Given the description of an element on the screen output the (x, y) to click on. 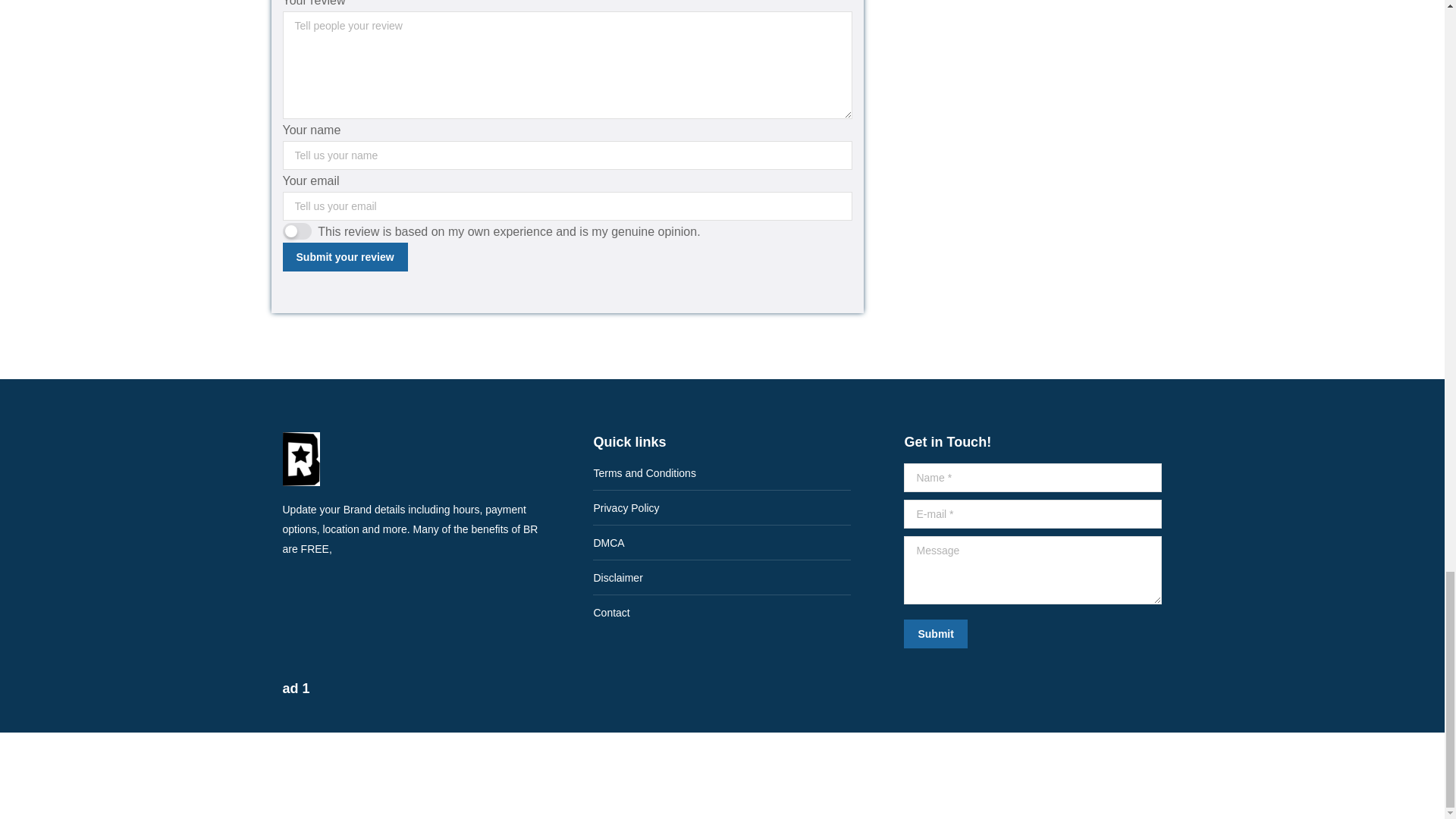
Advertisement (455, 772)
submit (1008, 635)
1 (296, 230)
